Given the description of an element on the screen output the (x, y) to click on. 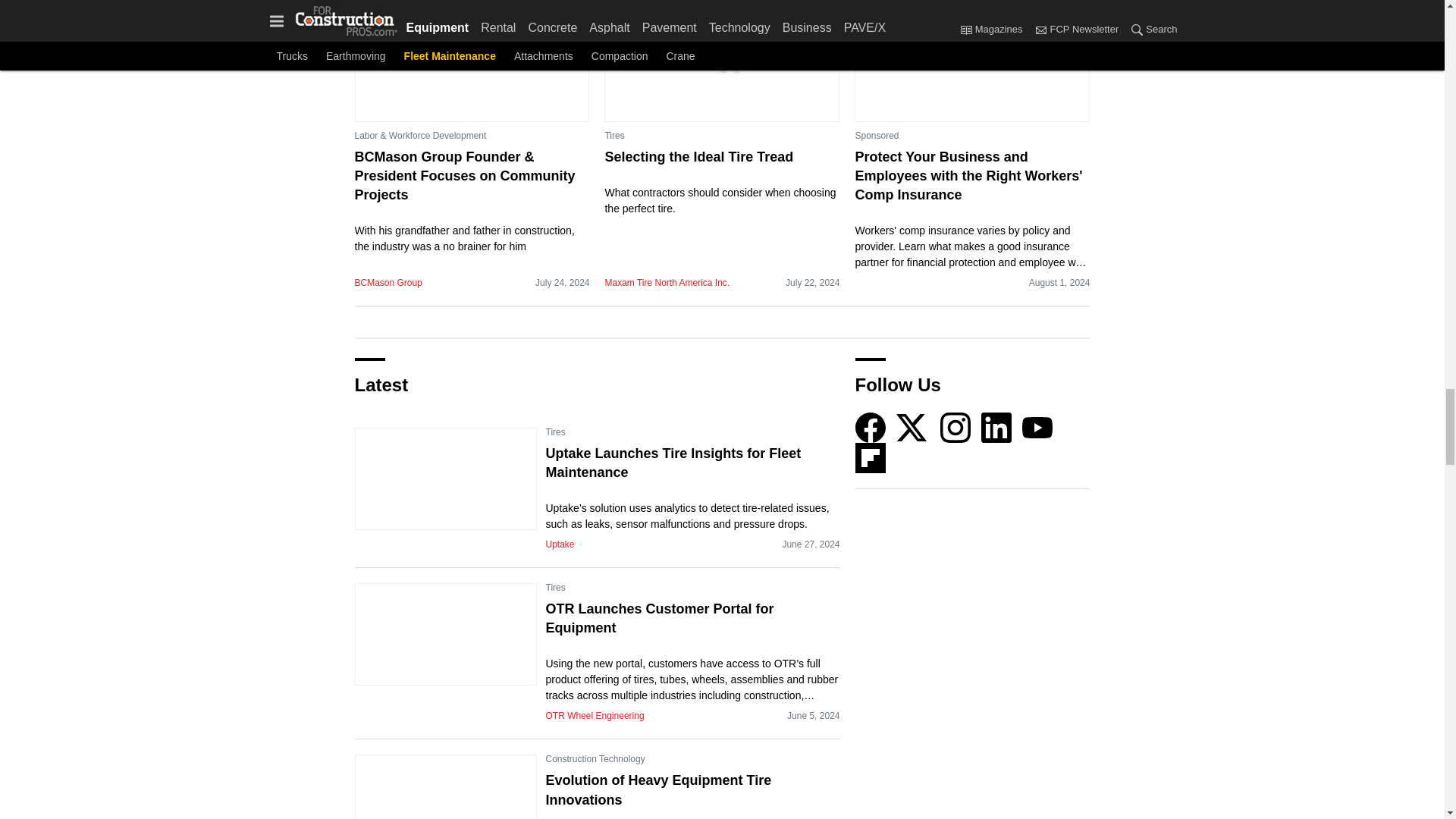
Facebook icon (870, 427)
Flipboard icon (870, 458)
Twitter X icon (911, 427)
Instagram icon (955, 427)
LinkedIn icon (996, 427)
YouTube icon (1037, 427)
